Given the description of an element on the screen output the (x, y) to click on. 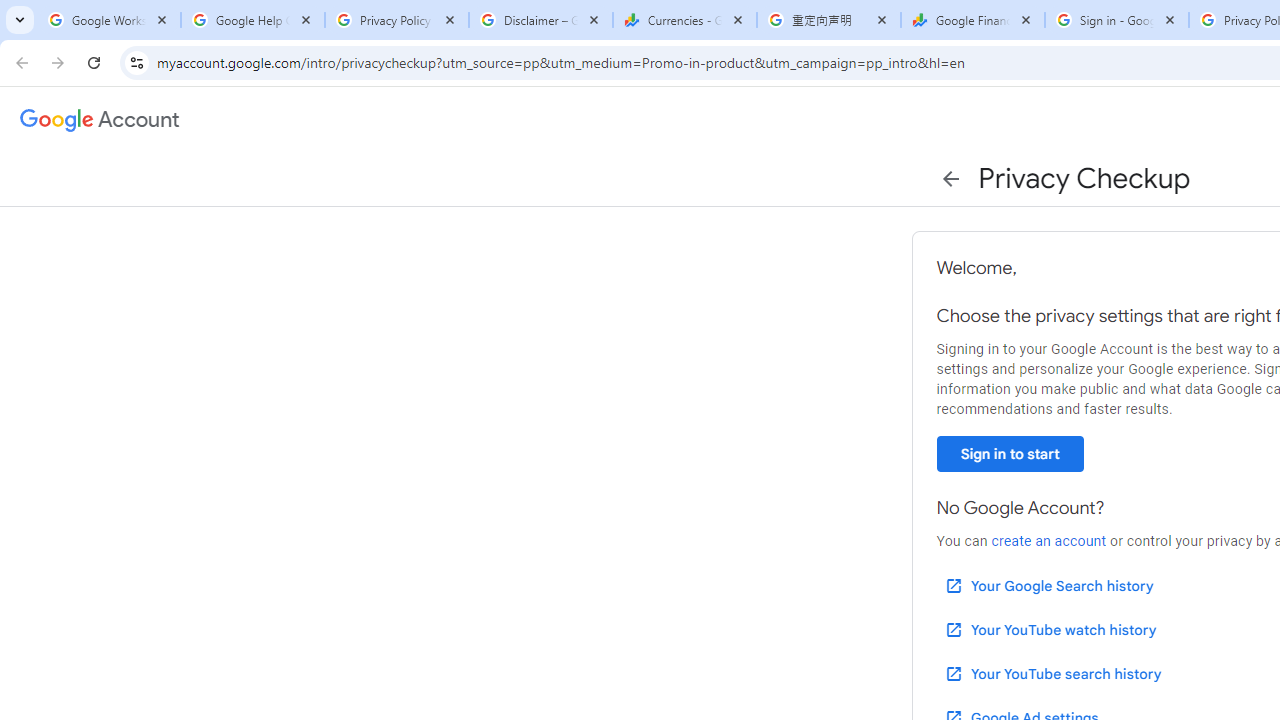
Your YouTube watch history (1049, 630)
Your YouTube search history (1052, 673)
